Given the description of an element on the screen output the (x, y) to click on. 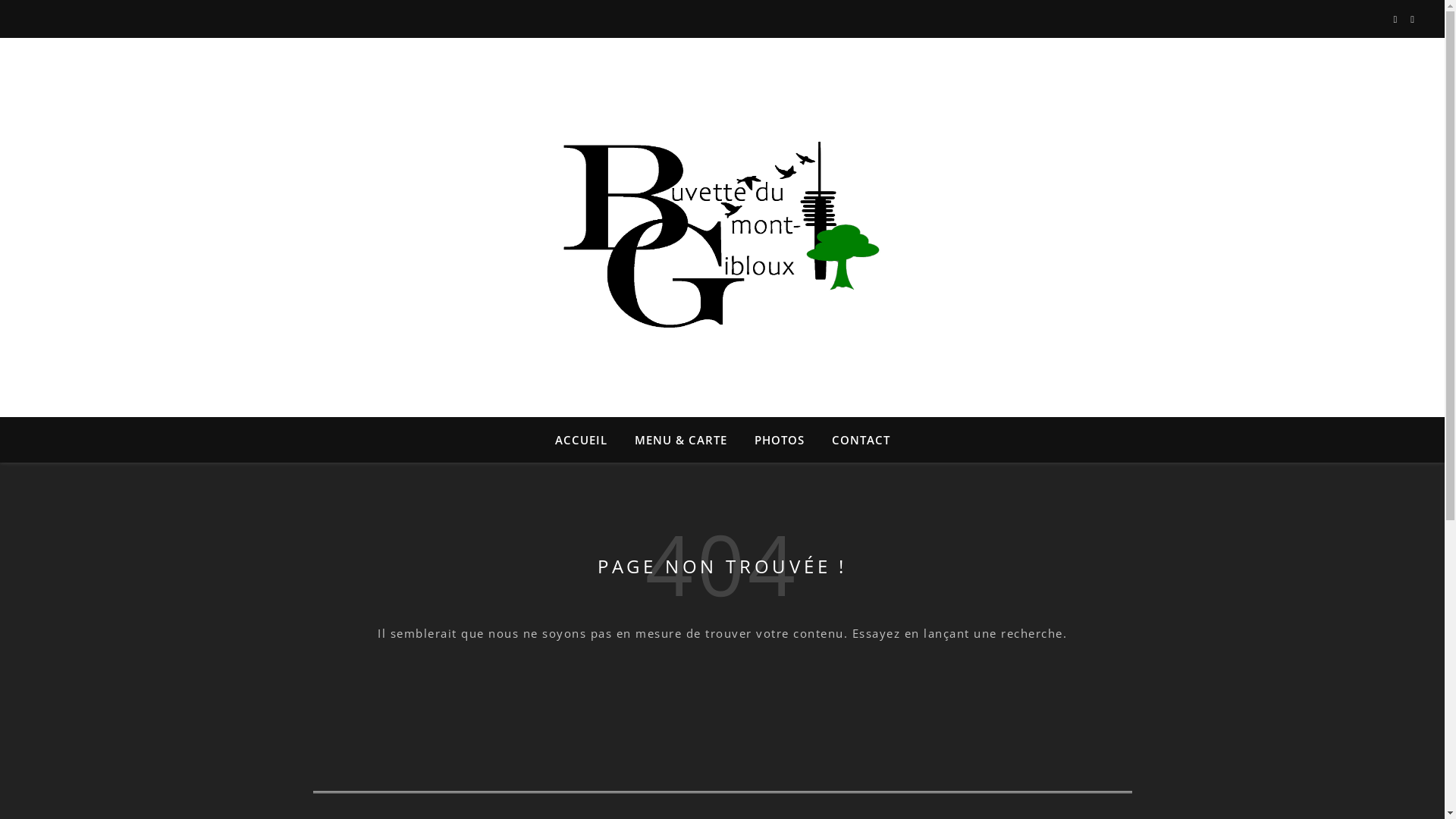
PHOTOS Element type: text (778, 439)
Buvette du Mont-Gibloux Element type: hover (721, 217)
ACCUEIL Element type: text (587, 439)
MENU & CARTE Element type: text (679, 439)
CONTACT Element type: text (854, 439)
